Given the description of an element on the screen output the (x, y) to click on. 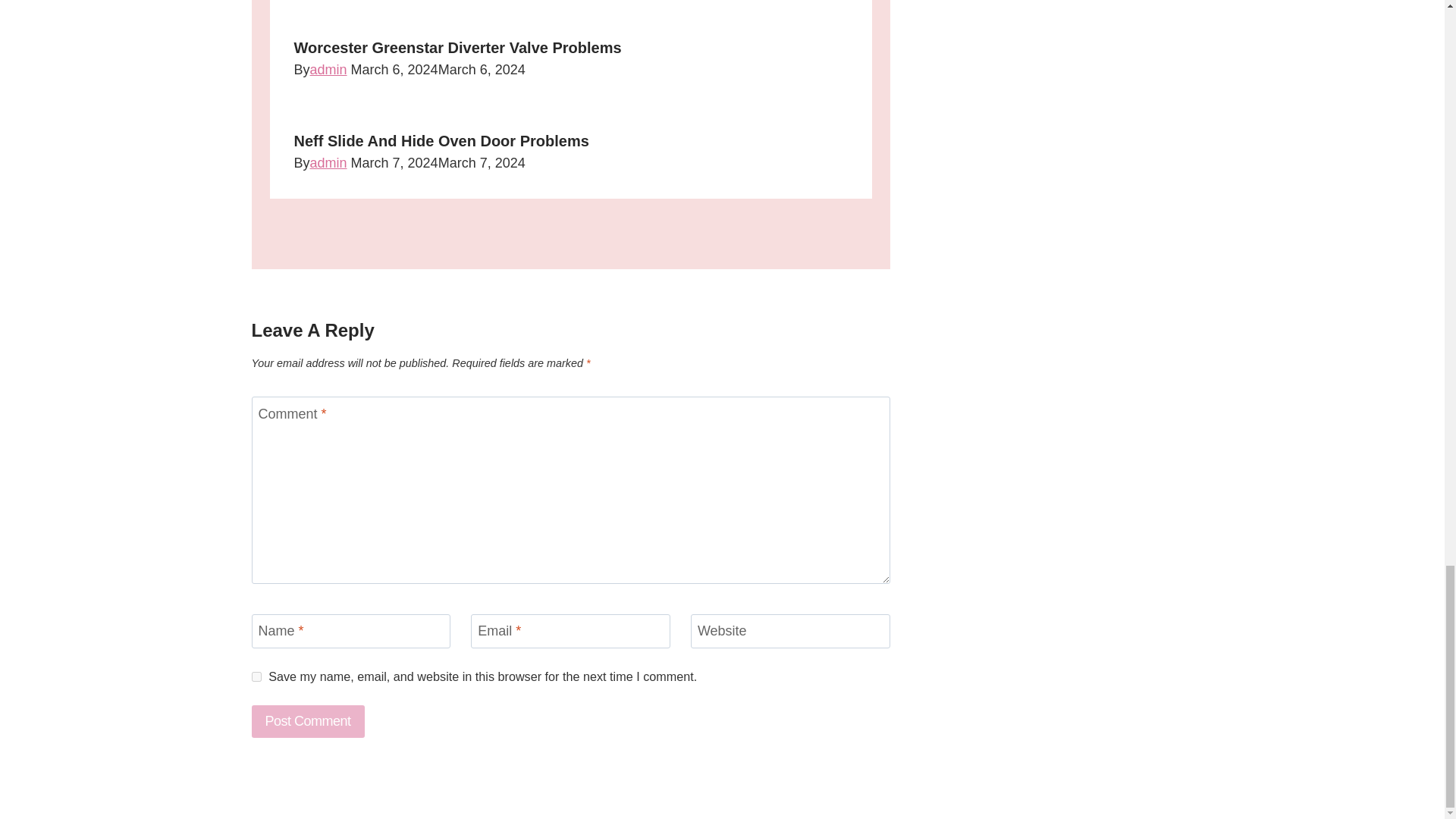
Neff Slide And Hide Oven Door Problems (441, 140)
Post Comment (308, 721)
Worcester Greenstar Diverter Valve Problems (457, 47)
admin (328, 69)
yes (256, 676)
